Given the description of an element on the screen output the (x, y) to click on. 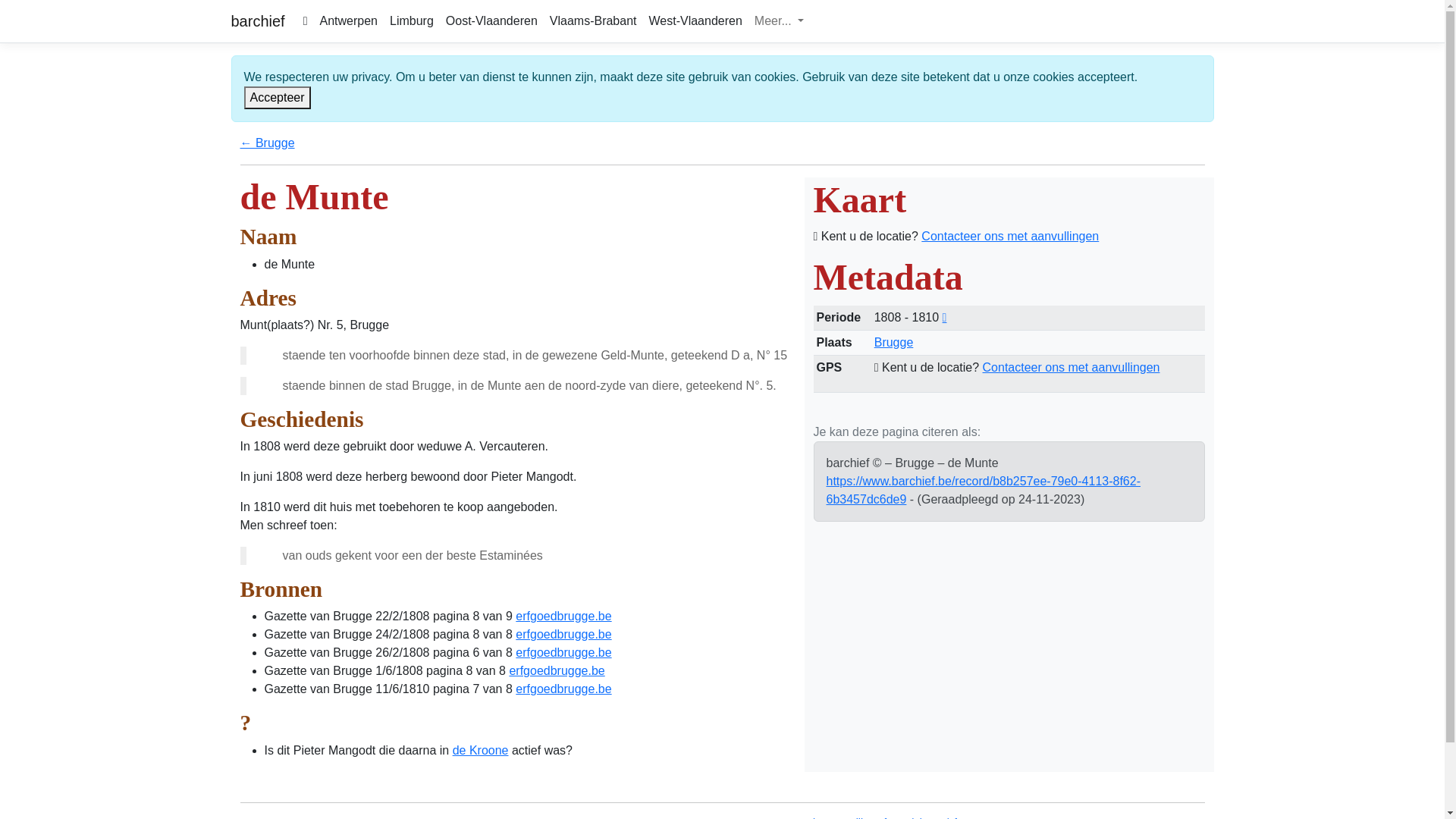
Antwerpen Element type: text (348, 21)
Oost-Vlaanderen Element type: text (491, 21)
erfgoedbrugge.be Element type: text (563, 652)
erfgoedbrugge.be Element type: text (556, 670)
Brugge Element type: text (893, 341)
Contacteer ons met aanvullingen Element type: text (1009, 235)
Accepteer Element type: text (277, 97)
erfgoedbrugge.be Element type: text (563, 633)
Vlaams-Brabant Element type: text (593, 21)
Contacteer ons met aanvullingen Element type: text (1071, 366)
Limburg Element type: text (411, 21)
de Kroone Element type: text (480, 749)
barchief Element type: text (257, 21)
erfgoedbrugge.be Element type: text (563, 615)
West-Vlaanderen Element type: text (695, 21)
Meer... Element type: text (778, 21)
erfgoedbrugge.be Element type: text (563, 688)
